Given the description of an element on the screen output the (x, y) to click on. 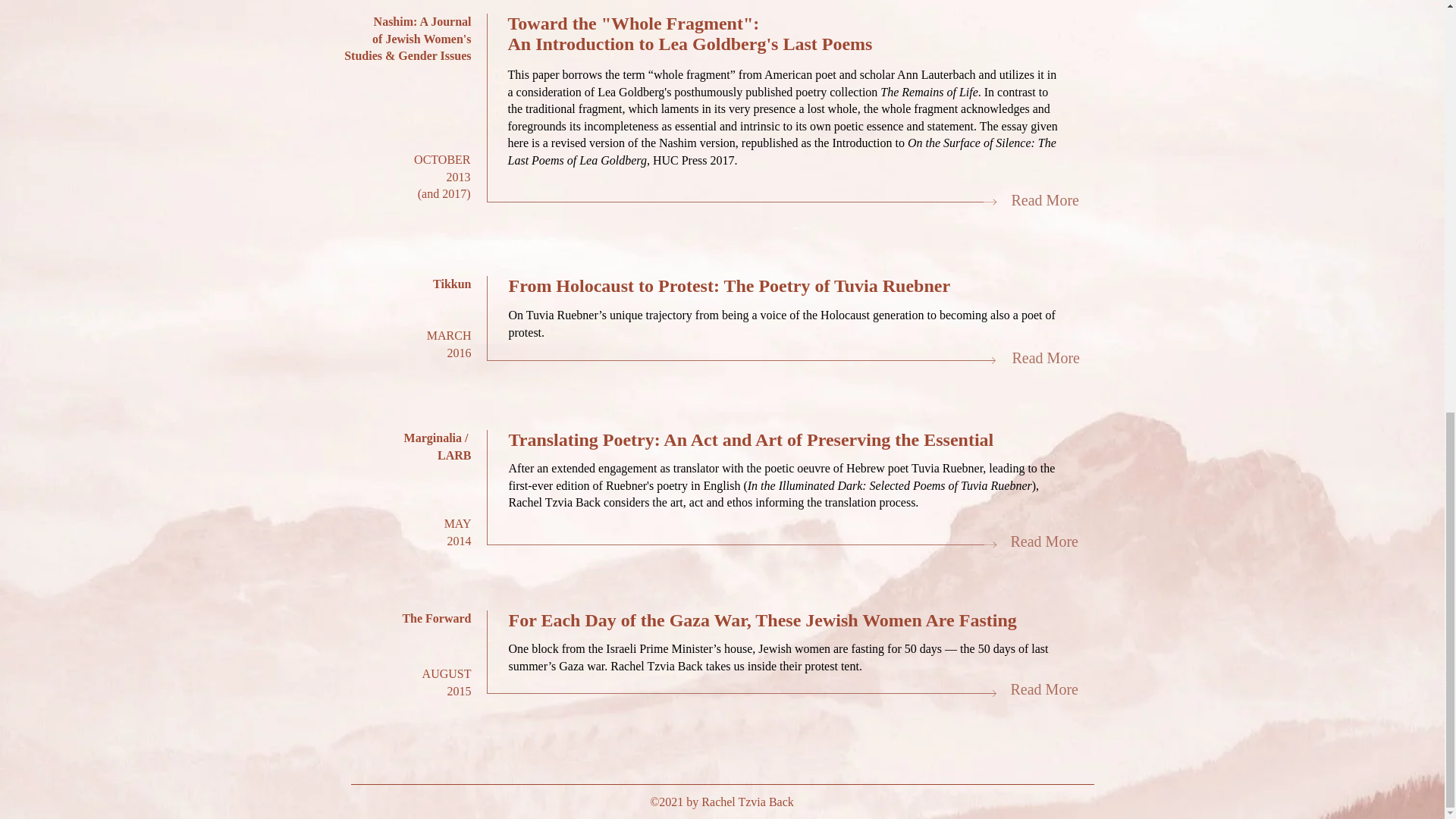
Read More (1044, 357)
Read More (1043, 541)
Read More (1044, 199)
Read More (1043, 688)
